Given the description of an element on the screen output the (x, y) to click on. 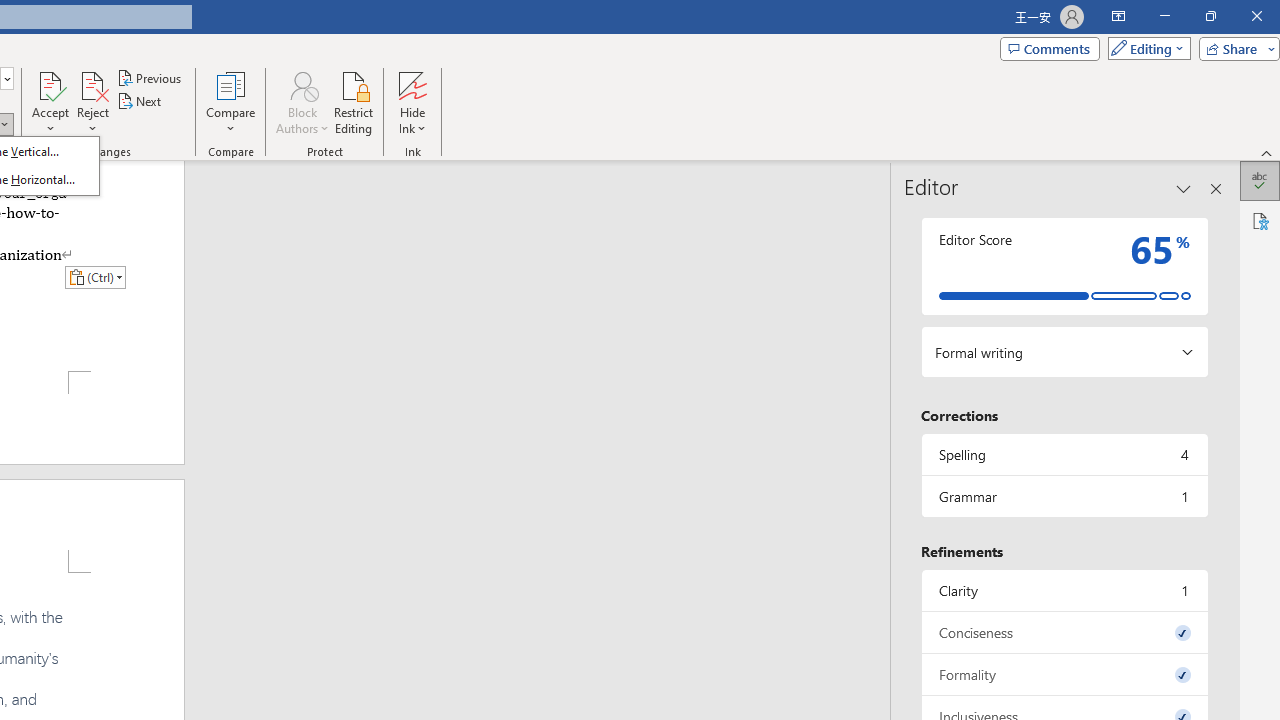
Accept and Move to Next (50, 84)
Action: Paste alternatives (95, 276)
Clarity, 1 issue. Press space or enter to review items. (1064, 590)
